Given the description of an element on the screen output the (x, y) to click on. 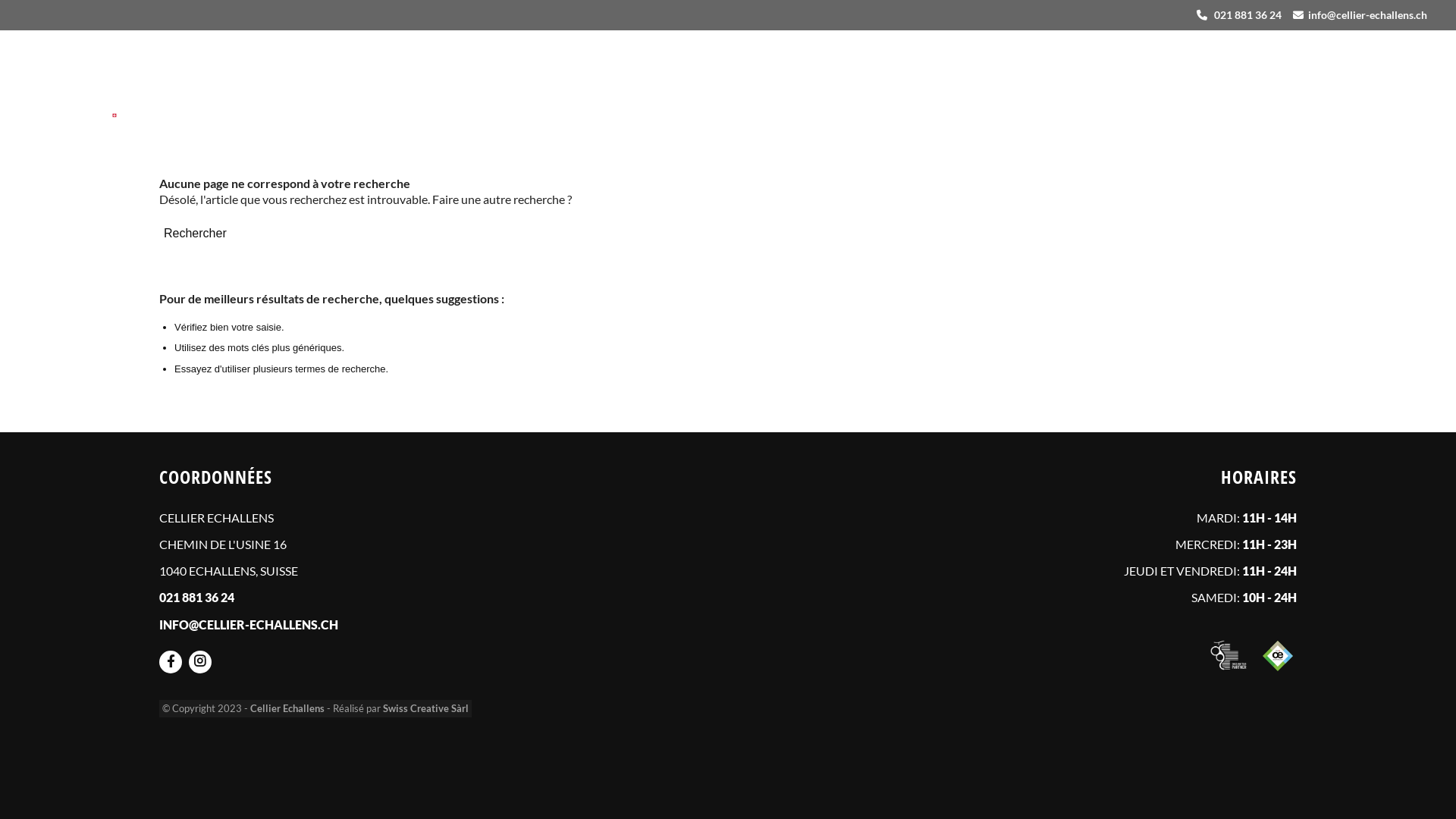
021 881 36 24 Element type: text (196, 596)
info@cellier-echallens.ch Element type: text (1367, 14)
021 881 36 24 Element type: text (1247, 14)
INFO@CELLIER-ECHALLENS.CH Element type: text (248, 624)
logo-2023 Element type: hover (72, 78)
